Given the description of an element on the screen output the (x, y) to click on. 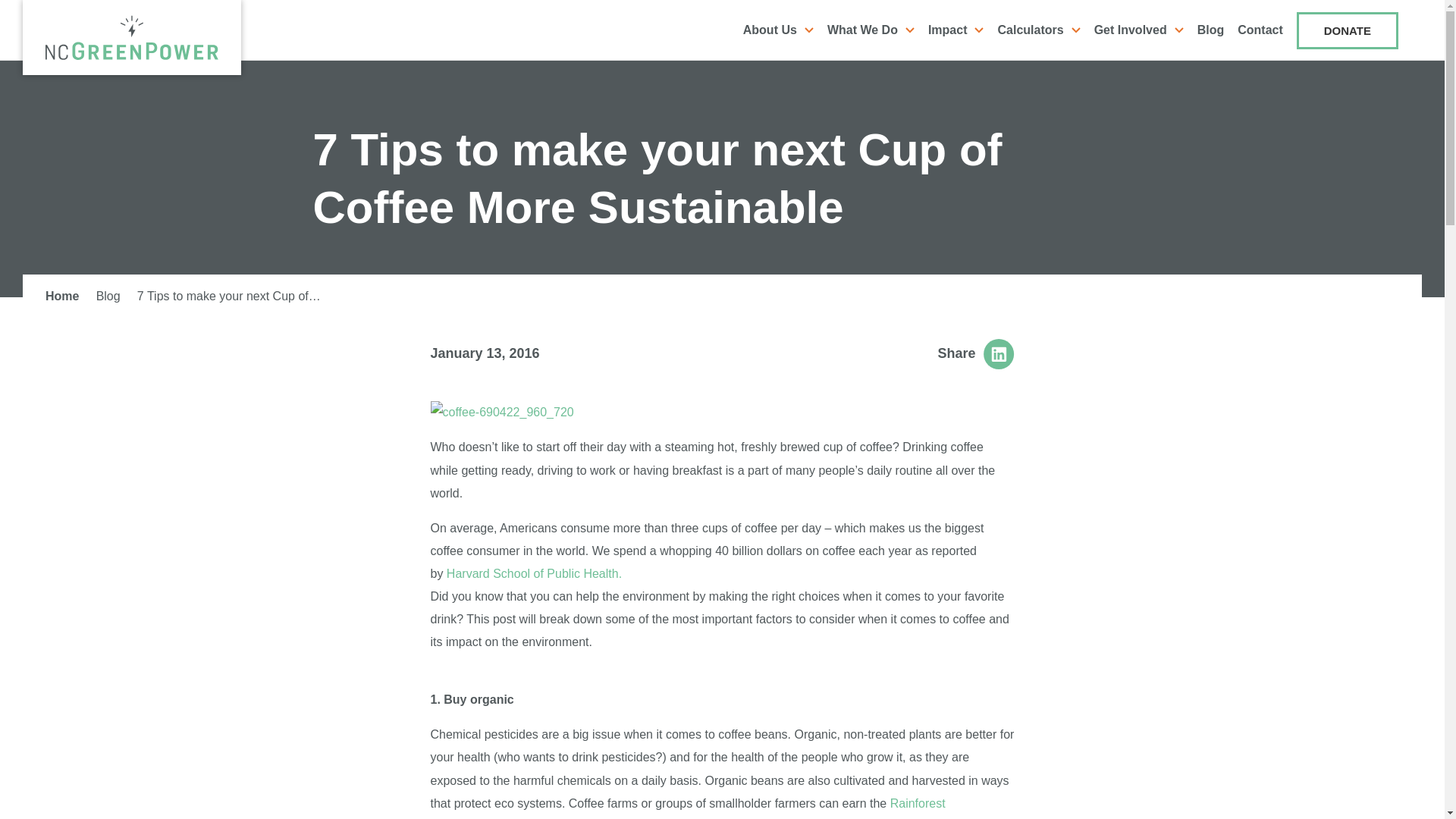
Impact (956, 30)
homepage (131, 37)
About Us (778, 30)
Get Involved (1139, 30)
Calculators (1038, 30)
What We Do (871, 30)
